Given the description of an element on the screen output the (x, y) to click on. 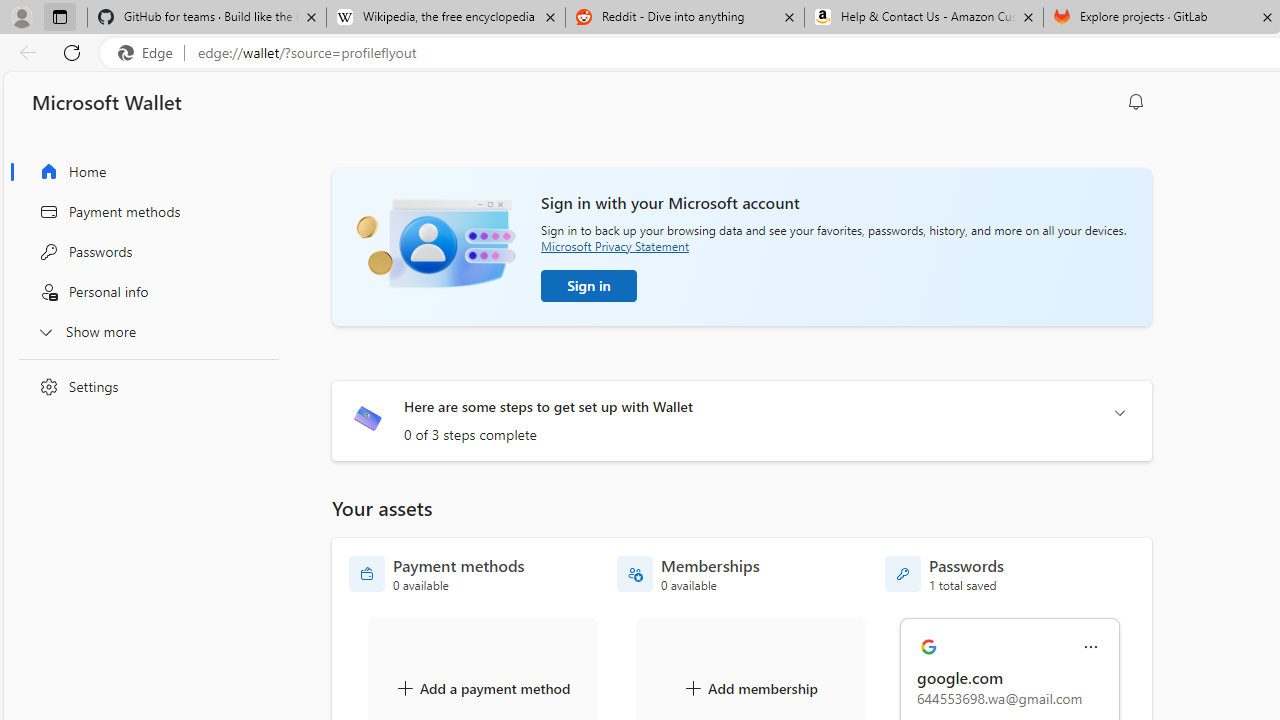
Personal info (143, 292)
Passwords - 1 total saved (944, 573)
Help & Contact Us - Amazon Customer Service (924, 17)
Show more (143, 331)
Memberships - 0 available (688, 573)
